Given the description of an element on the screen output the (x, y) to click on. 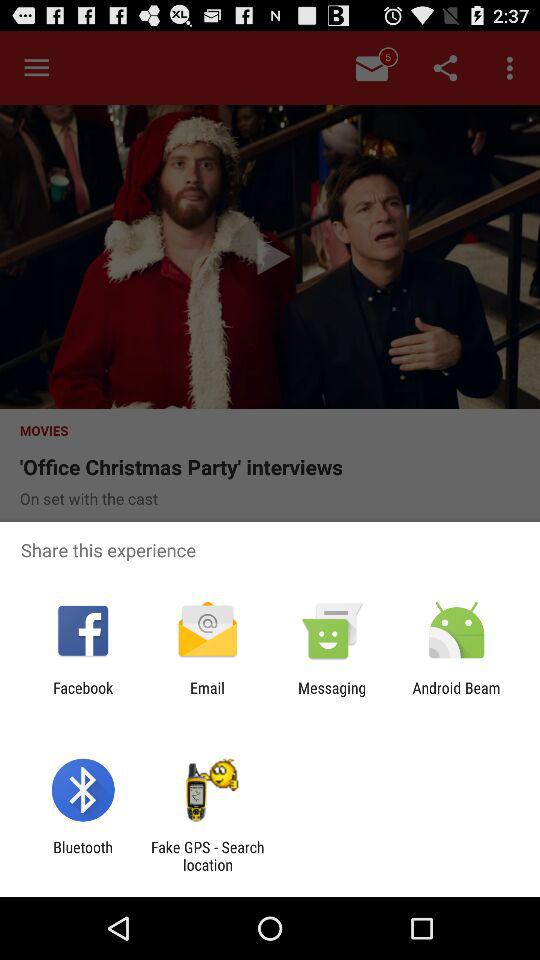
jump until fake gps search (207, 856)
